Given the description of an element on the screen output the (x, y) to click on. 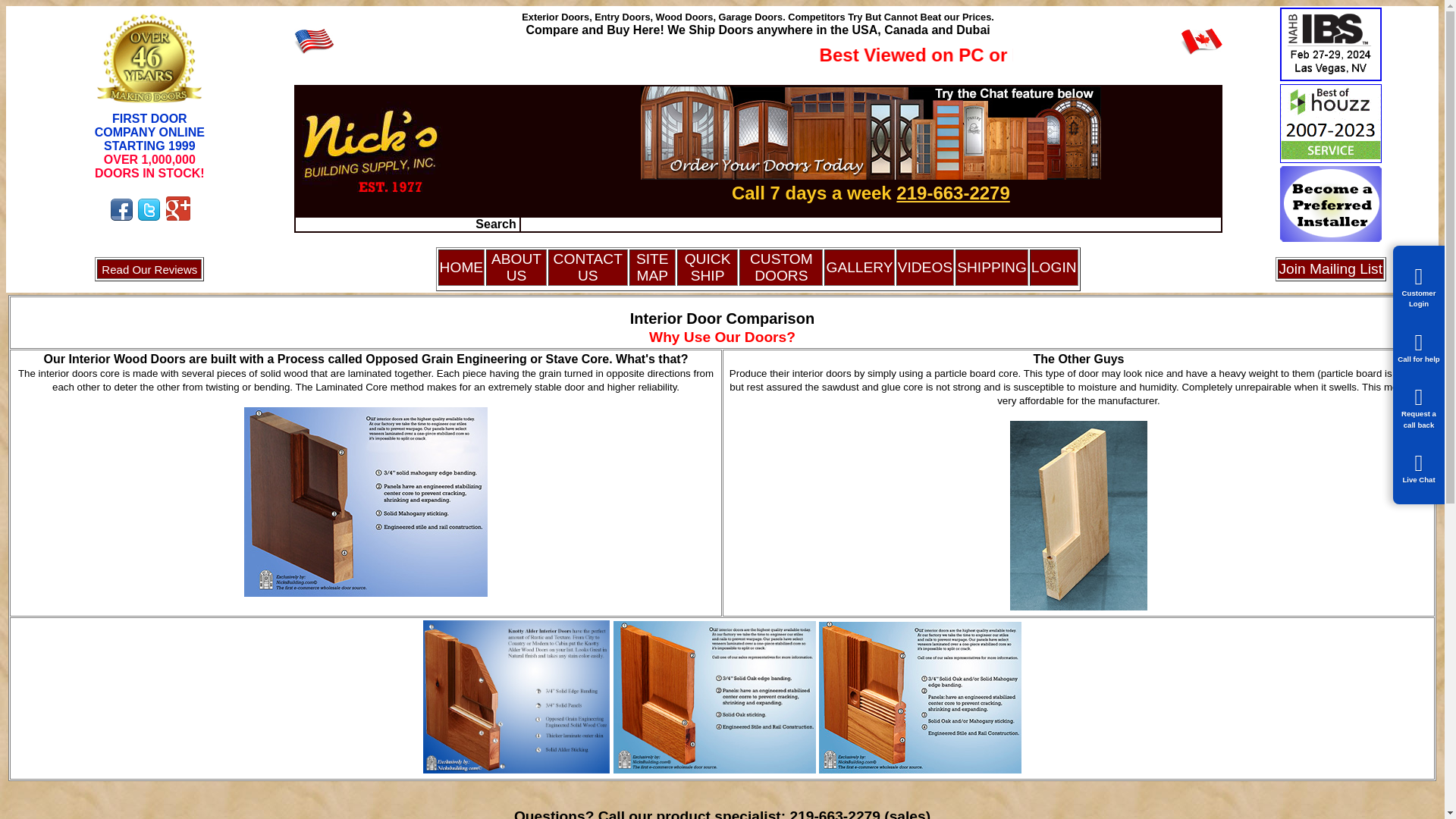
HOME for Wood Doors (461, 267)
Customer Login (1053, 267)
QUICK SHIP (707, 266)
See Links to all Wood Doors (651, 267)
ABOUT US (516, 266)
IBS 2024 Free Passes (1330, 76)
Gallery of Homes with Wood Doors Installed (925, 267)
VIDEOS (925, 267)
Gallery of Homes with Wood Doors Installed (858, 267)
